Given the description of an element on the screen output the (x, y) to click on. 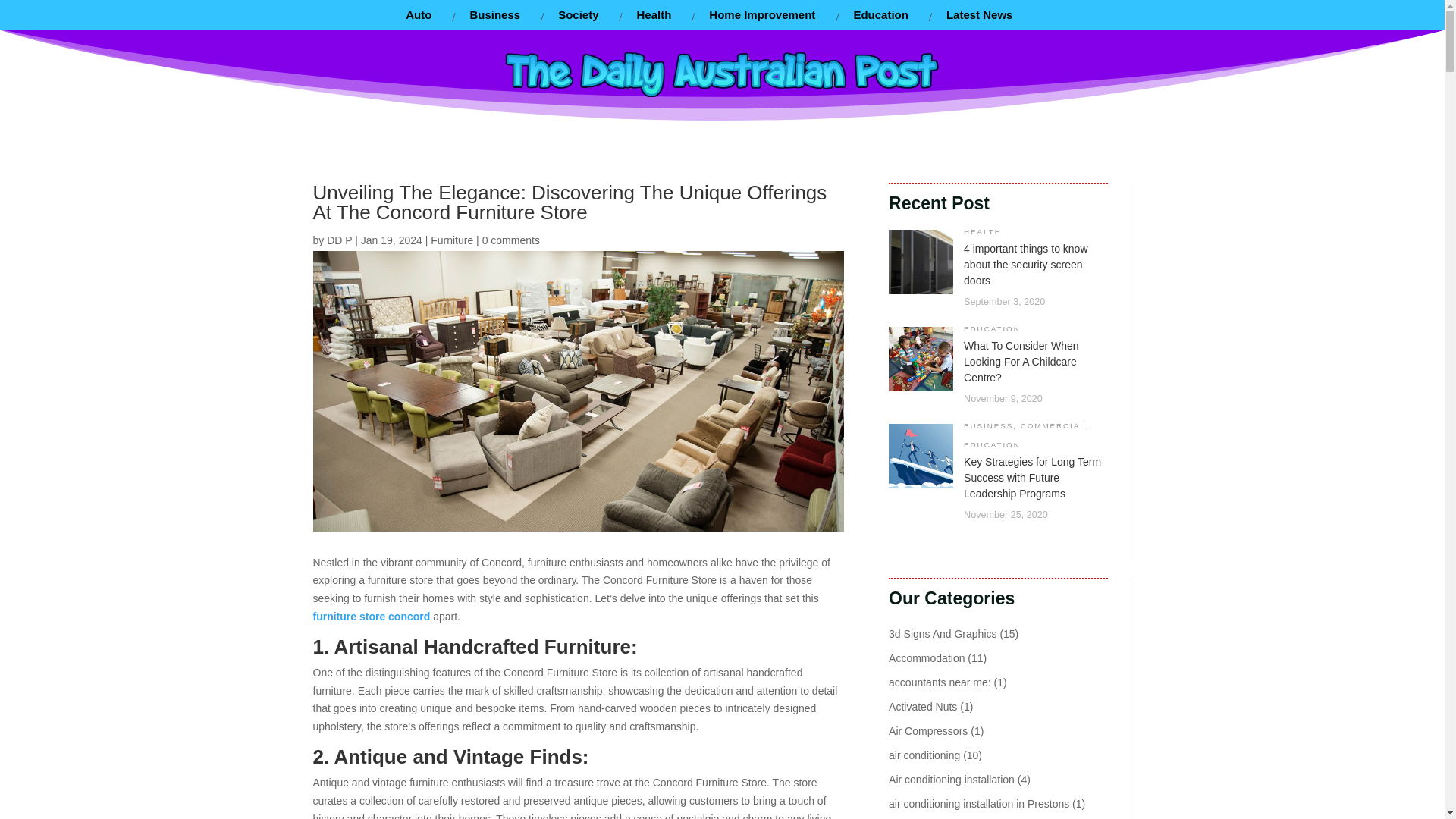
September 3, 2020 (1004, 301)
Accommodation (925, 657)
Posts by DD P (339, 240)
4 important things to know about the security screen doors (1025, 264)
What To Consider When Looking For A Childcare Centre? (1020, 361)
DD P (339, 240)
Air Compressors (928, 730)
Activated Nuts (922, 706)
November 9, 2020 (1002, 398)
accountants near me: (939, 682)
